Given the description of an element on the screen output the (x, y) to click on. 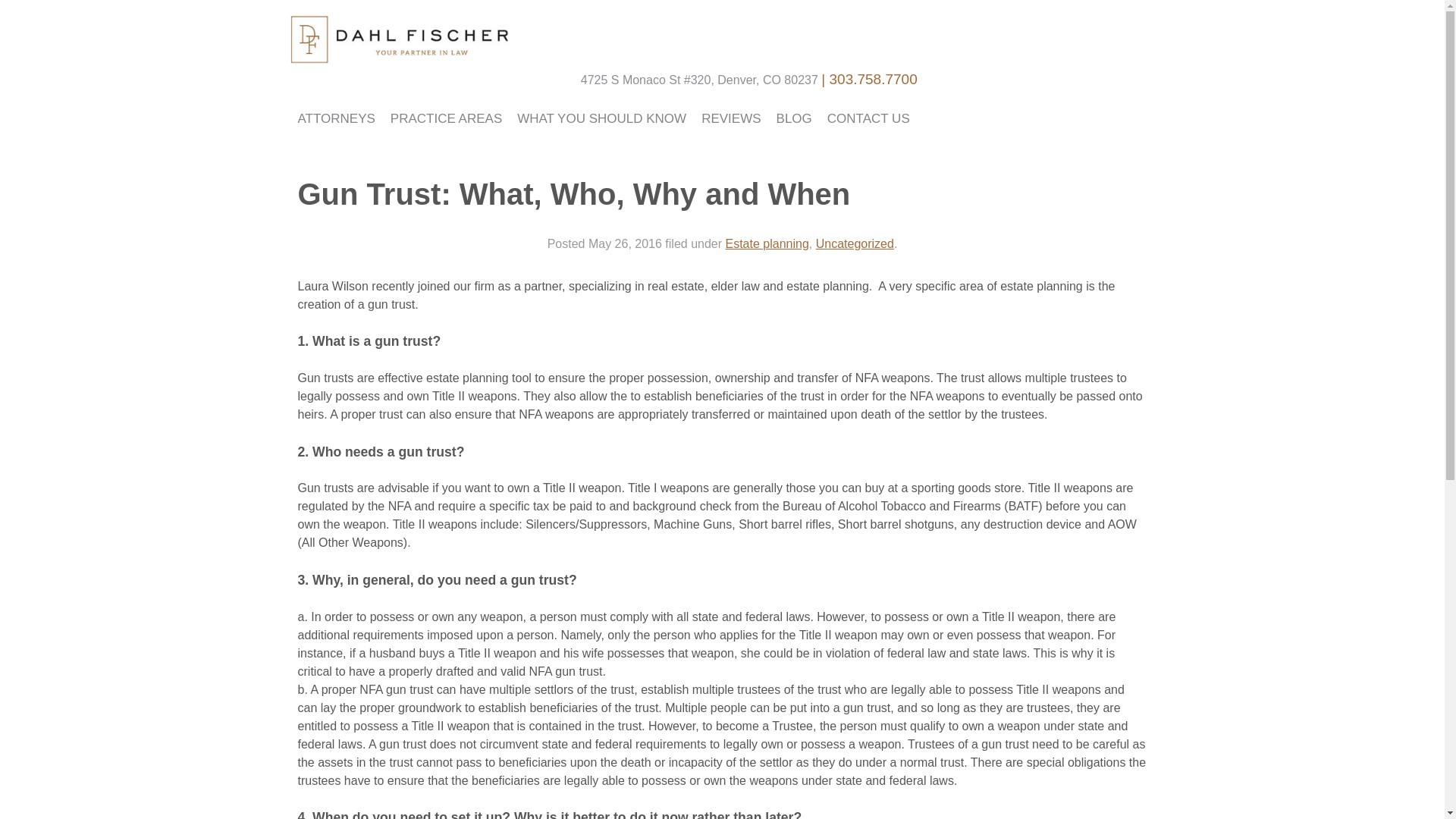
PRACTICE AREAS (445, 119)
Estate planning (766, 243)
WHAT YOU SHOULD KNOW (601, 119)
BLOG (793, 119)
REVIEWS (731, 119)
ATTORNEYS (335, 119)
Uncategorized (854, 243)
CONTACT US (868, 119)
